Given the description of an element on the screen output the (x, y) to click on. 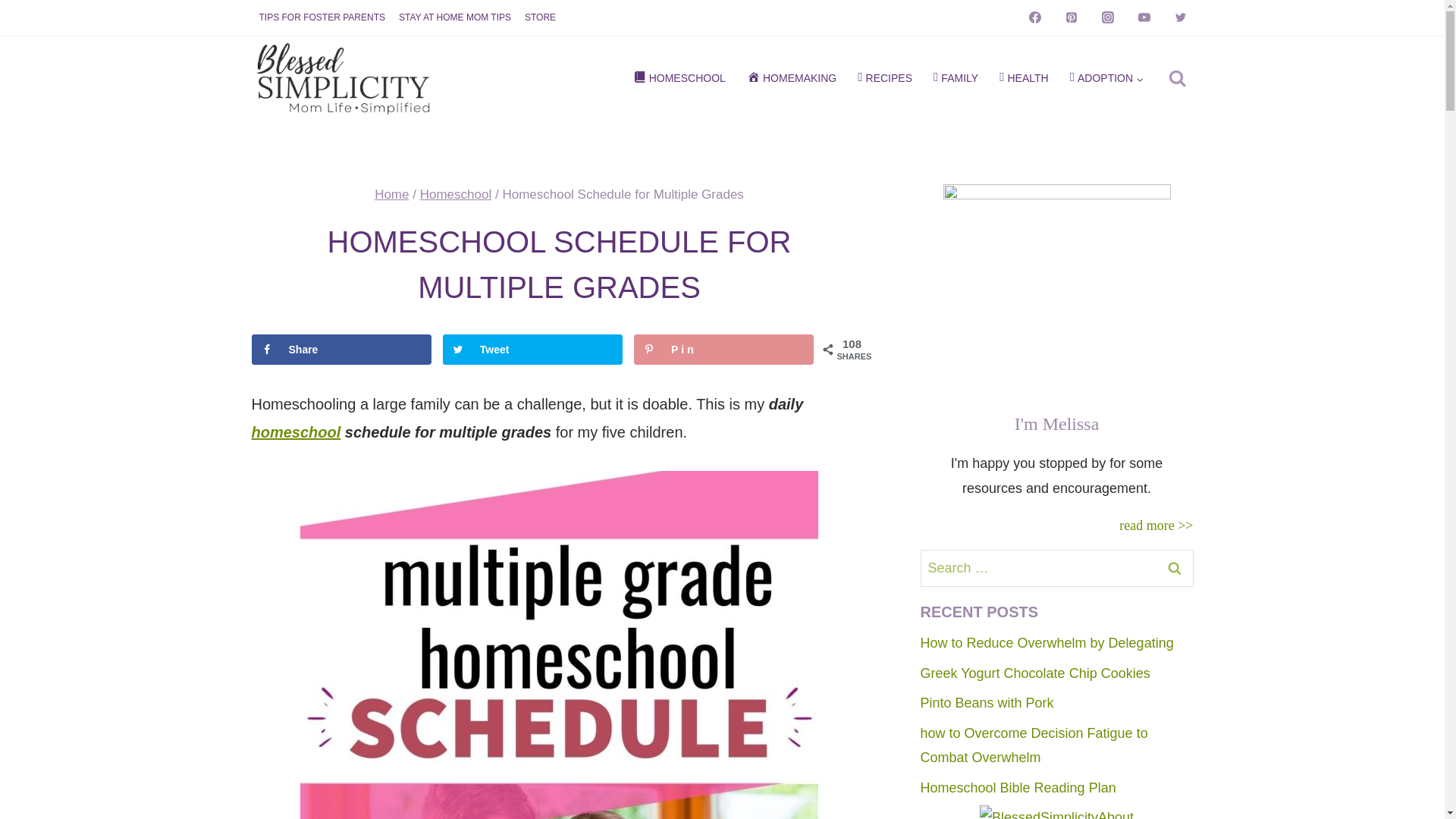
FAMILY (955, 79)
homeschool (295, 432)
Pin (723, 349)
STAY AT HOME MOM TIPS (454, 17)
HEALTH (1023, 79)
HOMEMAKING (791, 79)
Save to Pinterest (723, 349)
TIPS FOR FOSTER PARENTS (321, 17)
HOMESCHOOL (678, 79)
Share on Twitter (532, 349)
